Given the description of an element on the screen output the (x, y) to click on. 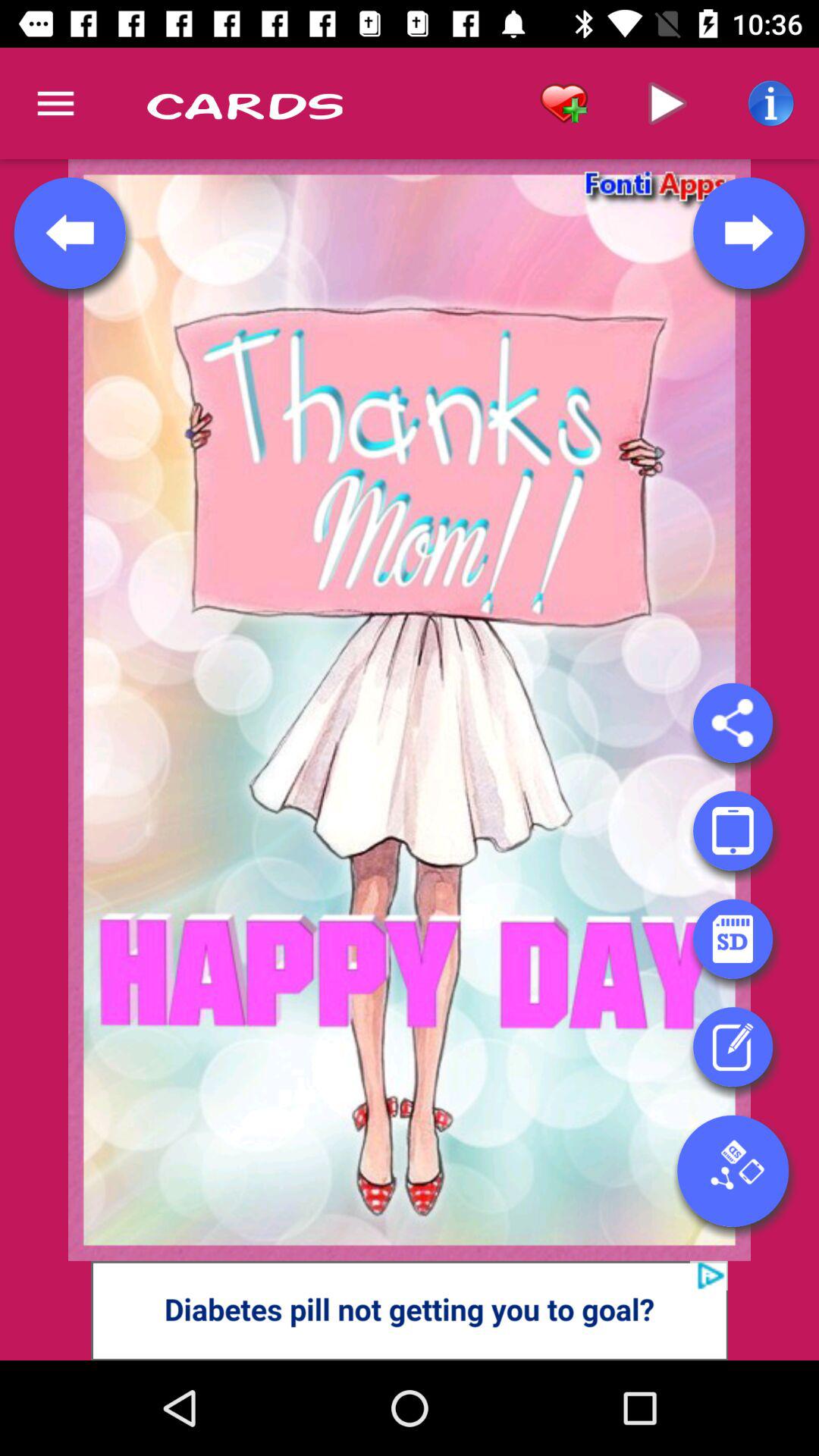
share (733, 722)
